Given the description of an element on the screen output the (x, y) to click on. 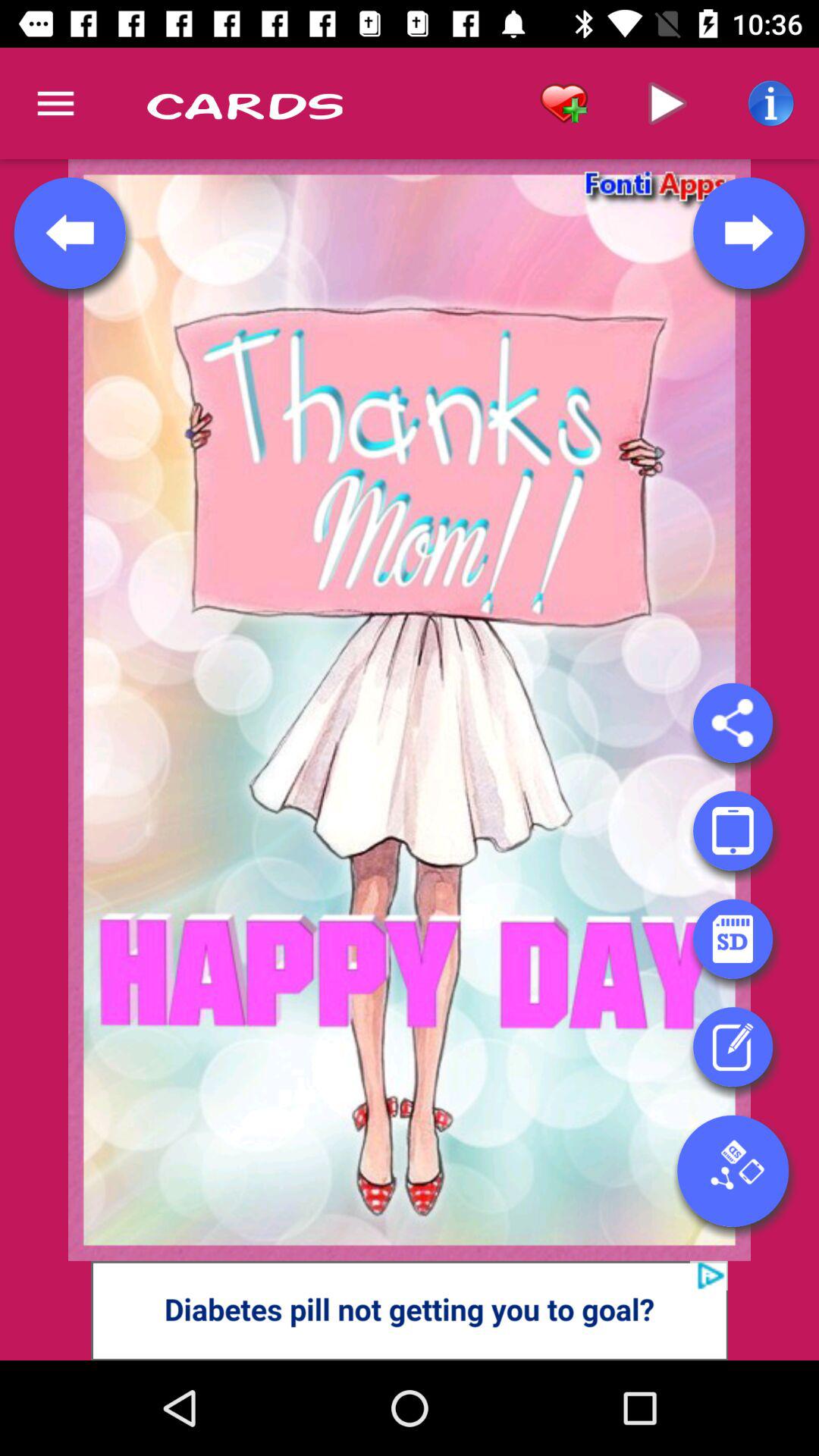
share (733, 722)
